Given the description of an element on the screen output the (x, y) to click on. 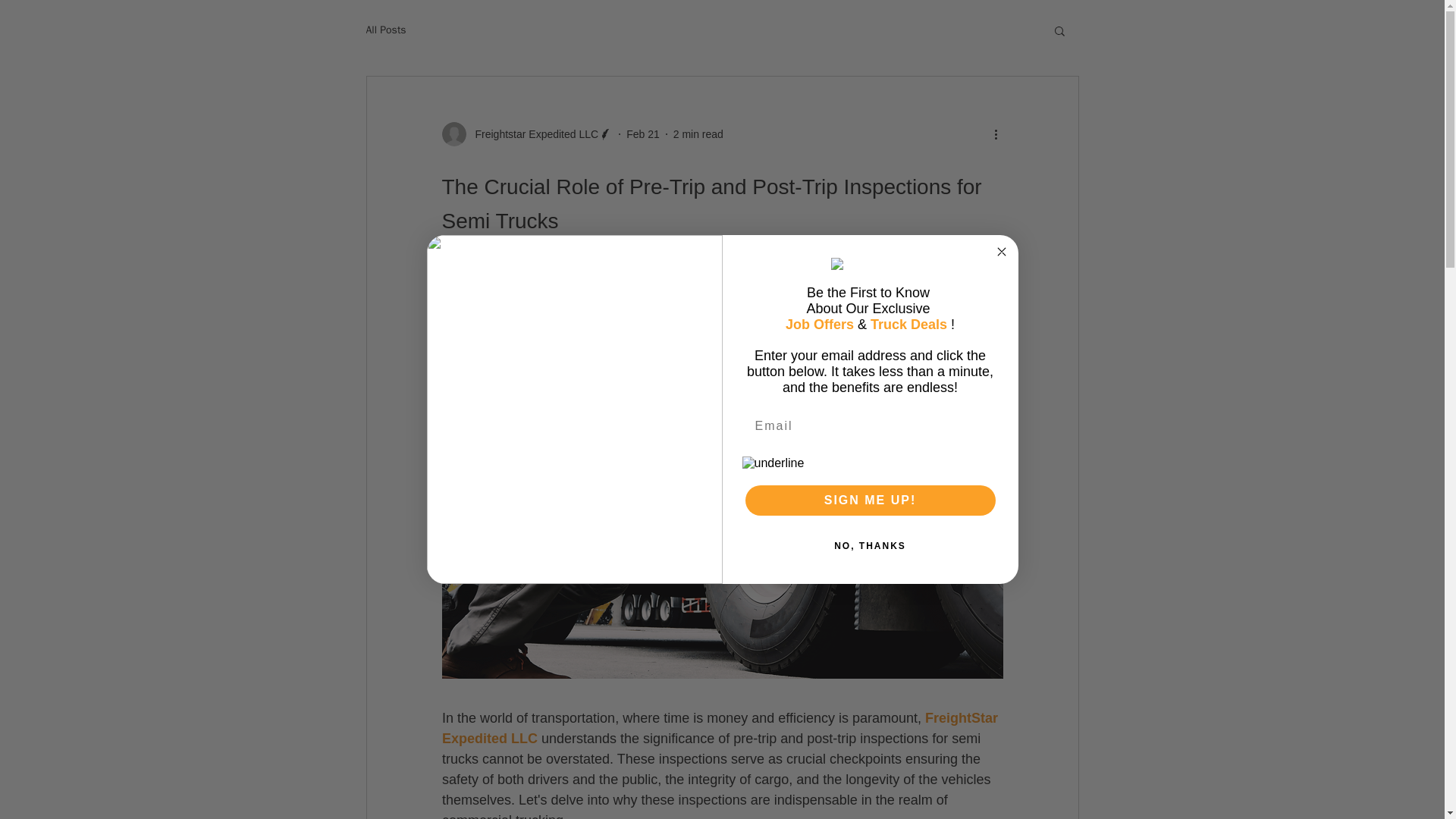
Feb 21 (642, 133)
2 min read (697, 133)
All Posts (385, 29)
Mar 29 (504, 254)
Freightstar Expedited LLC (531, 133)
Close dialog (1000, 251)
Freightstar Expedited LLC (526, 134)
